Given the description of an element on the screen output the (x, y) to click on. 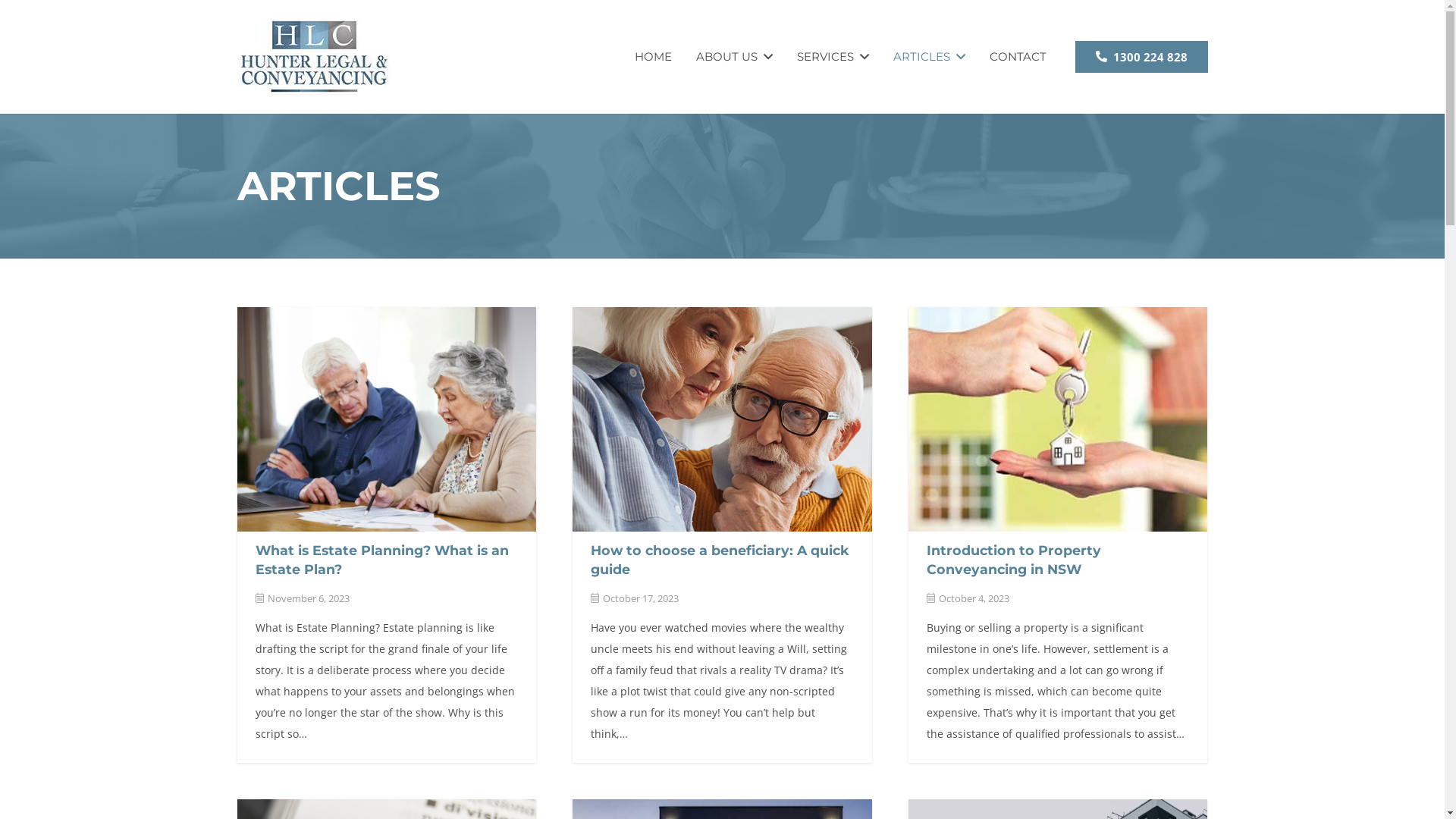
What is Estate Planning? What is an Estate Plan? Element type: text (381, 559)
ARTICLES Element type: text (929, 56)
HOME Element type: text (653, 56)
SERVICES Element type: text (832, 56)
1300 224 828 Element type: text (1141, 56)
Introduction to Property Conveyancing in NSW Element type: text (1013, 559)
CONTACT Element type: text (1017, 56)
How to choose a beneficiary: A quick guide Element type: text (719, 559)
ABOUT US Element type: text (734, 56)
